Given the description of an element on the screen output the (x, y) to click on. 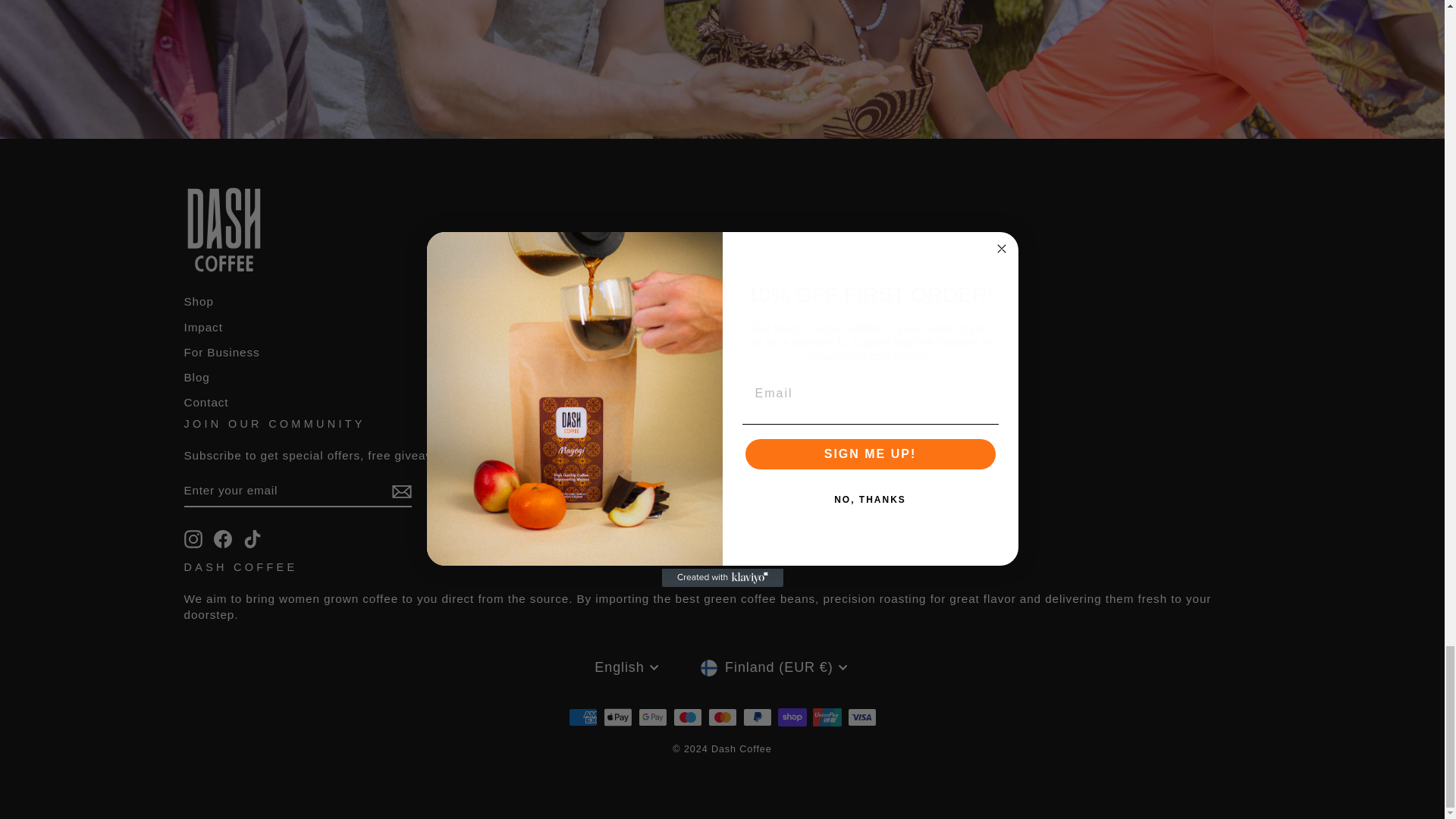
Maestro (686, 717)
Mastercard (721, 717)
Google Pay (652, 717)
Dash Coffee on Facebook (222, 538)
Apple Pay (617, 717)
American Express (582, 717)
Shop Pay (791, 717)
PayPal (756, 717)
Dash Coffee on TikTok (251, 538)
Union Pay (826, 717)
Dash Coffee on Instagram (192, 538)
